Given the description of an element on the screen output the (x, y) to click on. 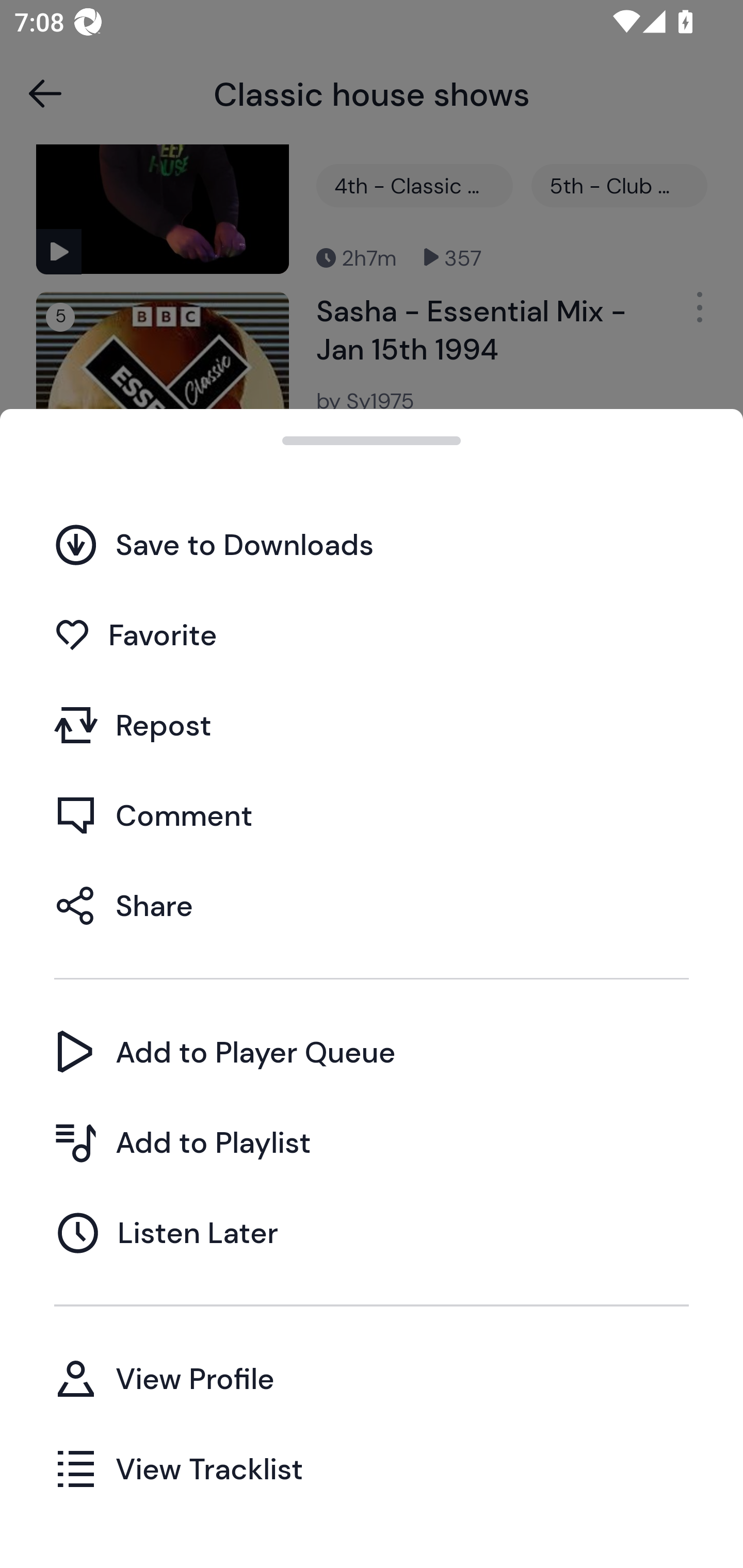
Save to Downloads (371, 543)
Favorite (371, 634)
Repost (371, 724)
Comment (371, 814)
Share (371, 905)
Add to Player Queue (371, 1051)
Add to Playlist (371, 1141)
Listen Later (371, 1231)
View Profile (371, 1377)
View Tracklist (371, 1468)
